Given the description of an element on the screen output the (x, y) to click on. 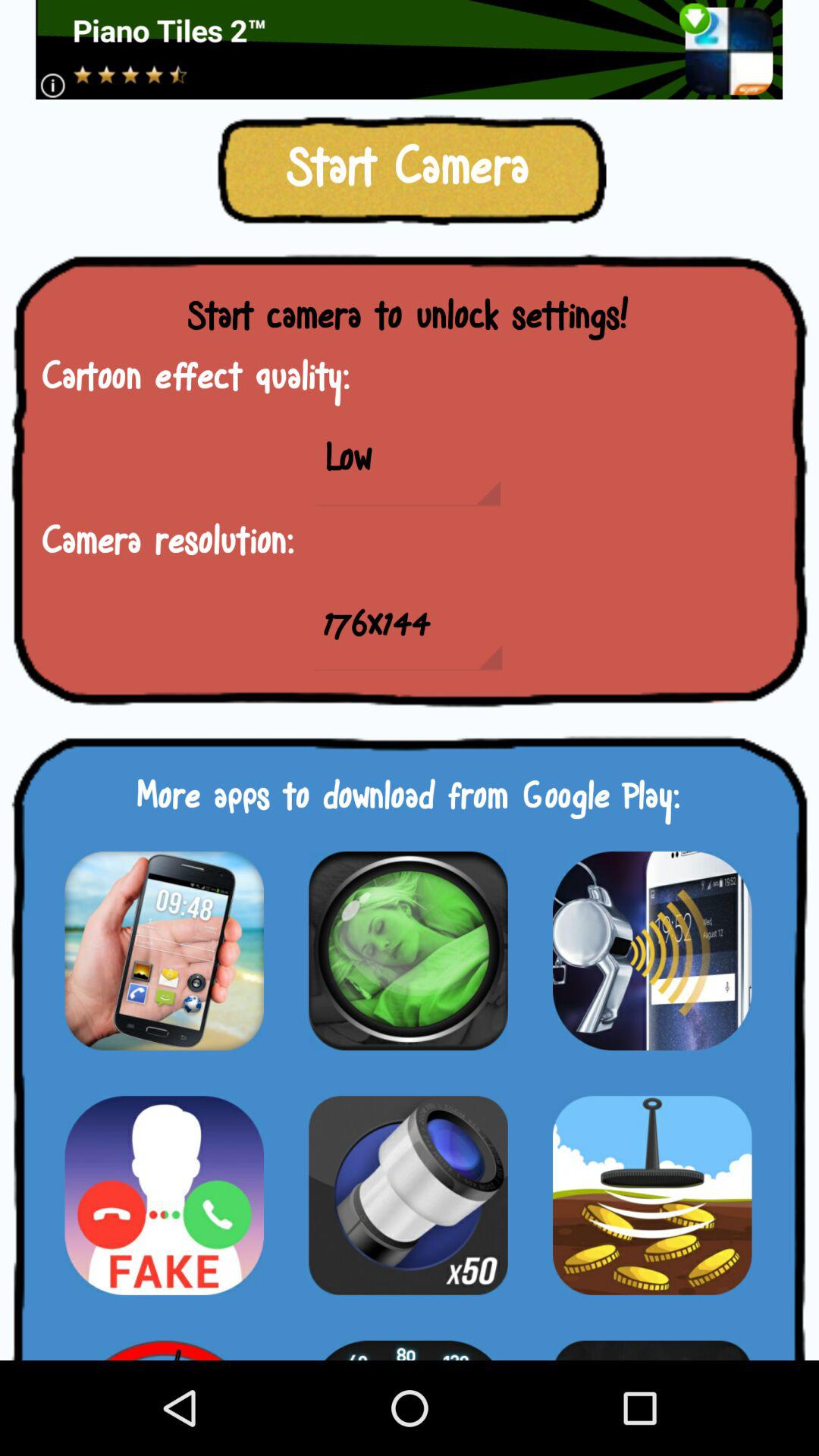
advertisement for app (652, 950)
